Given the description of an element on the screen output the (x, y) to click on. 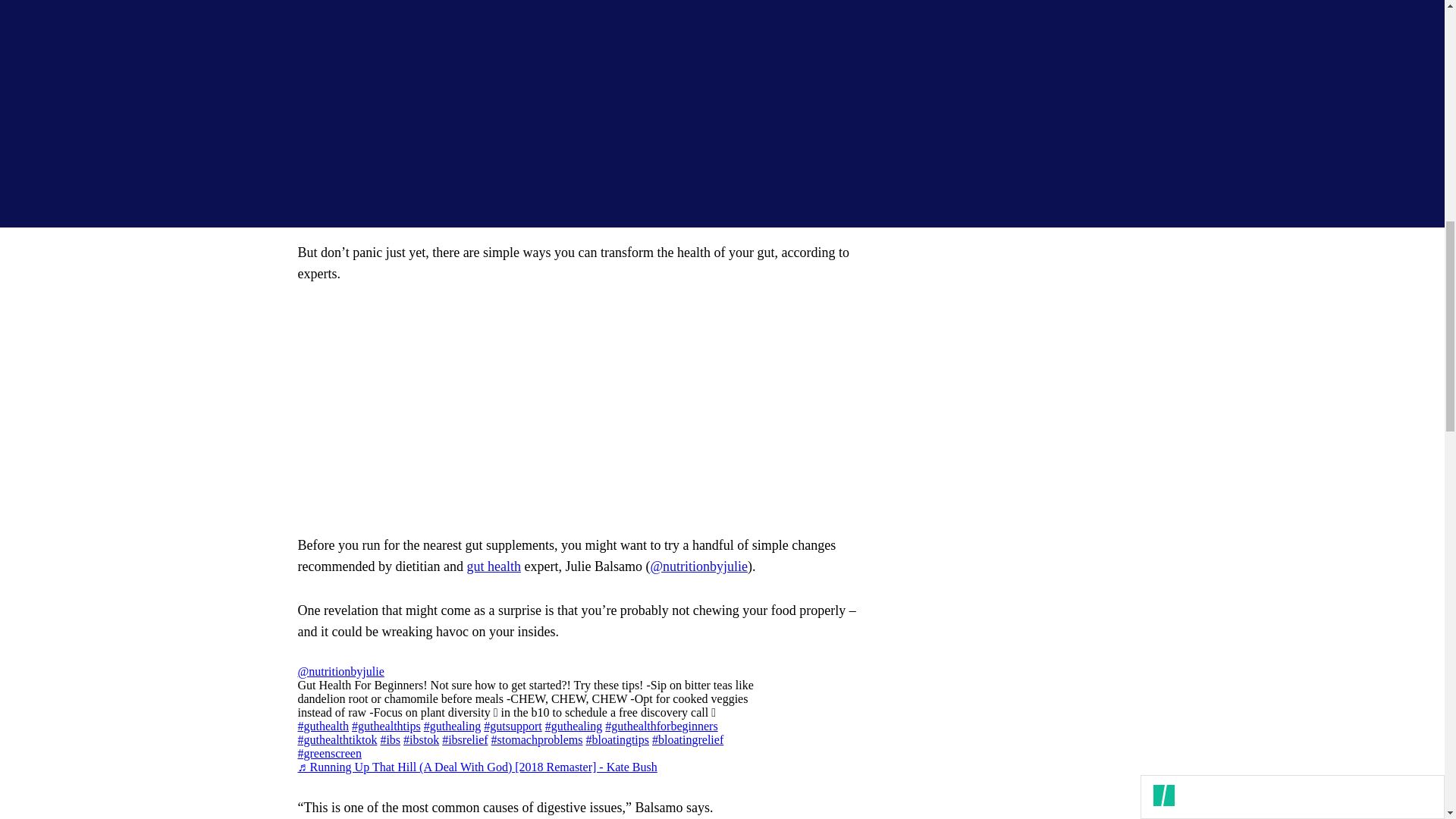
guthealth (323, 725)
bloatingrelief (687, 739)
guthealing (452, 725)
guthealing (573, 725)
ibstok (421, 739)
ibsrelief (464, 739)
guthealthtips (386, 725)
guthealthforbeginners (661, 725)
gutsupport (512, 725)
ibs (390, 739)
stomachproblems (537, 739)
bloatingtips (617, 739)
greenscreen (329, 753)
guthealthtiktok (337, 739)
